Given the description of an element on the screen output the (x, y) to click on. 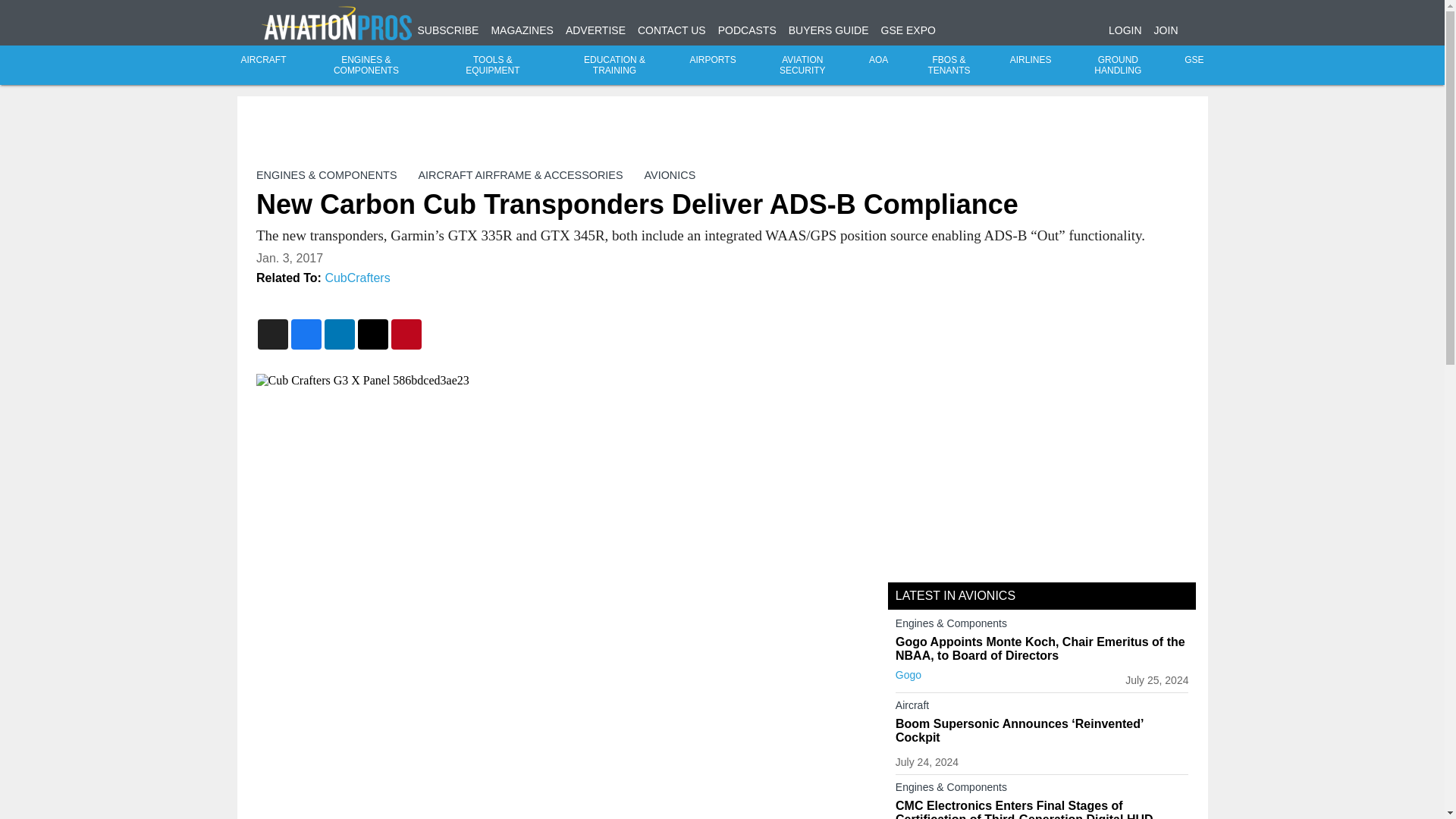
ADVERTISE (596, 30)
CONTACT US (671, 30)
GROUND HANDLING (1117, 65)
MAGAZINES (521, 30)
Cub Crafters G3 X Panel 586bdced3ae23 (560, 380)
LOGIN (1124, 30)
AVIATION SECURITY (801, 65)
GSE EXPO (908, 30)
AIRCRAFT (263, 59)
AIRPORTS (713, 59)
